Given the description of an element on the screen output the (x, y) to click on. 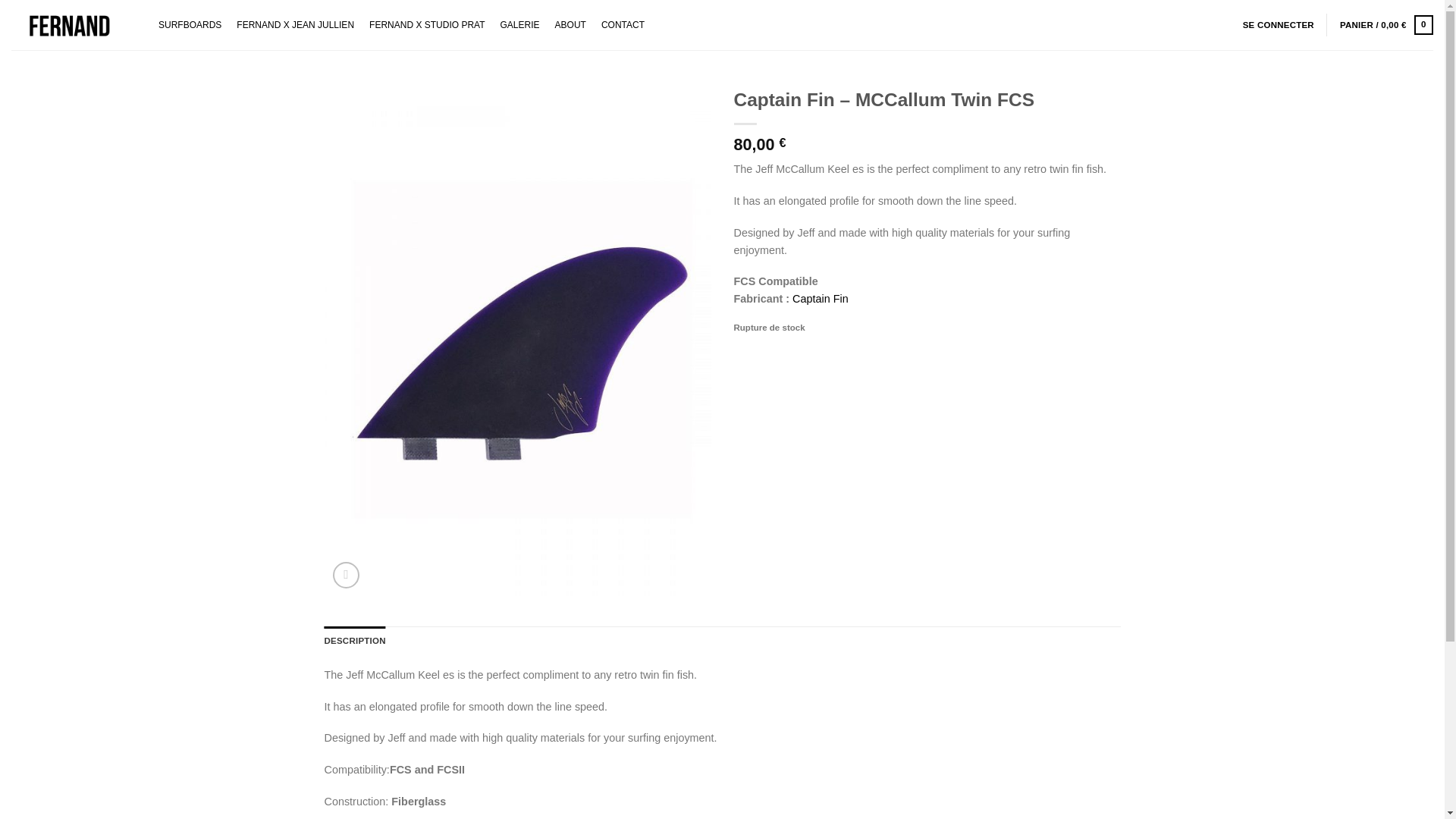
FERNAND X STUDIO PRAT (426, 24)
DESCRIPTION (354, 640)
GALERIE (520, 24)
Zoom (346, 574)
Captain Fin (820, 298)
FERNAND X JEAN JULLIEN (294, 24)
SE CONNECTER (1278, 24)
SURFBOARDS (189, 24)
Panier (1385, 24)
Se connecter (1278, 24)
